Given the description of an element on the screen output the (x, y) to click on. 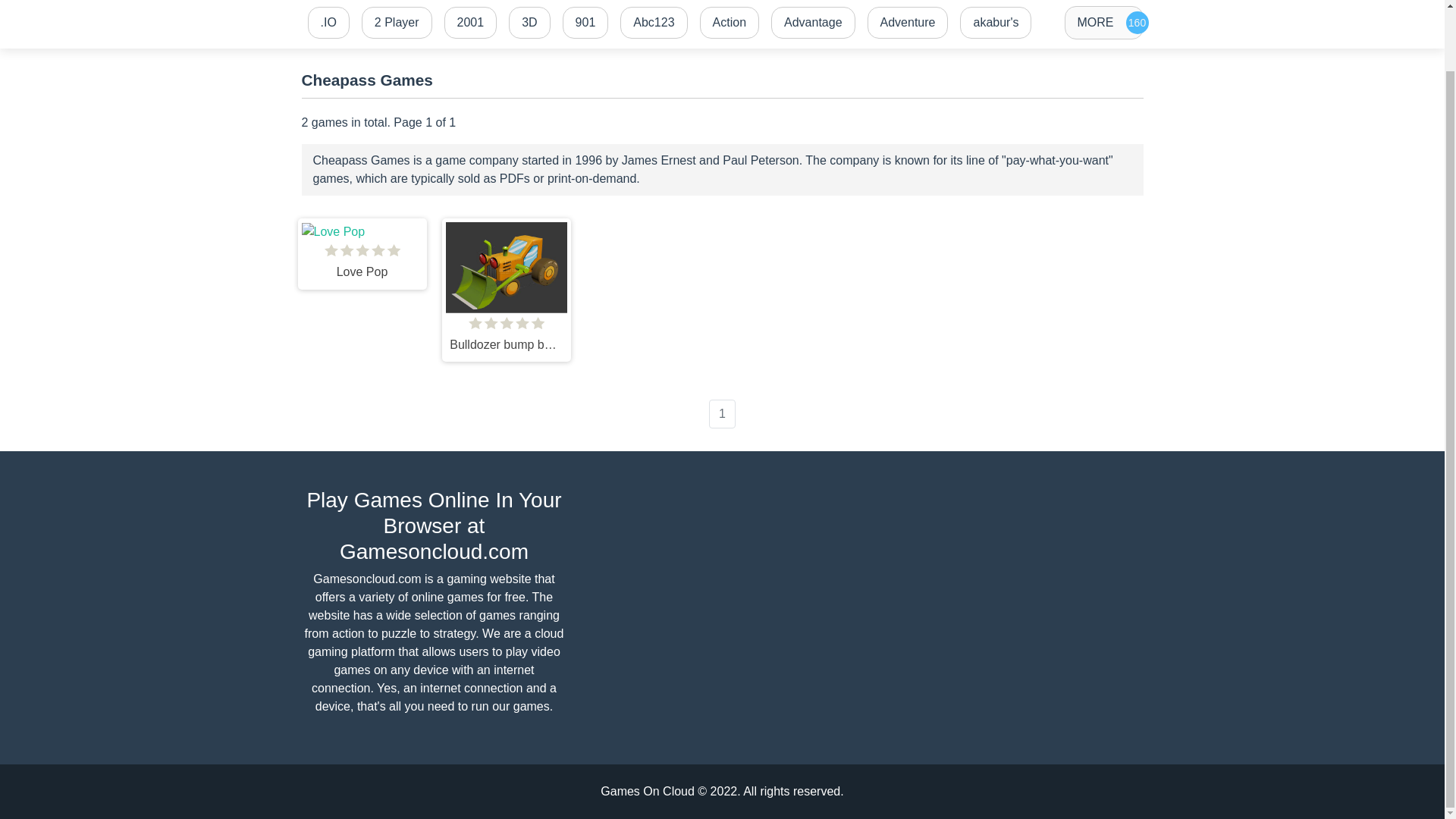
akabur's (994, 22)
MORE (1103, 22)
3D (529, 22)
2 Player (396, 22)
901 (585, 22)
Advantage (813, 22)
.IO (328, 22)
Adventure (908, 22)
Action (729, 22)
Abc123 (653, 22)
